Given the description of an element on the screen output the (x, y) to click on. 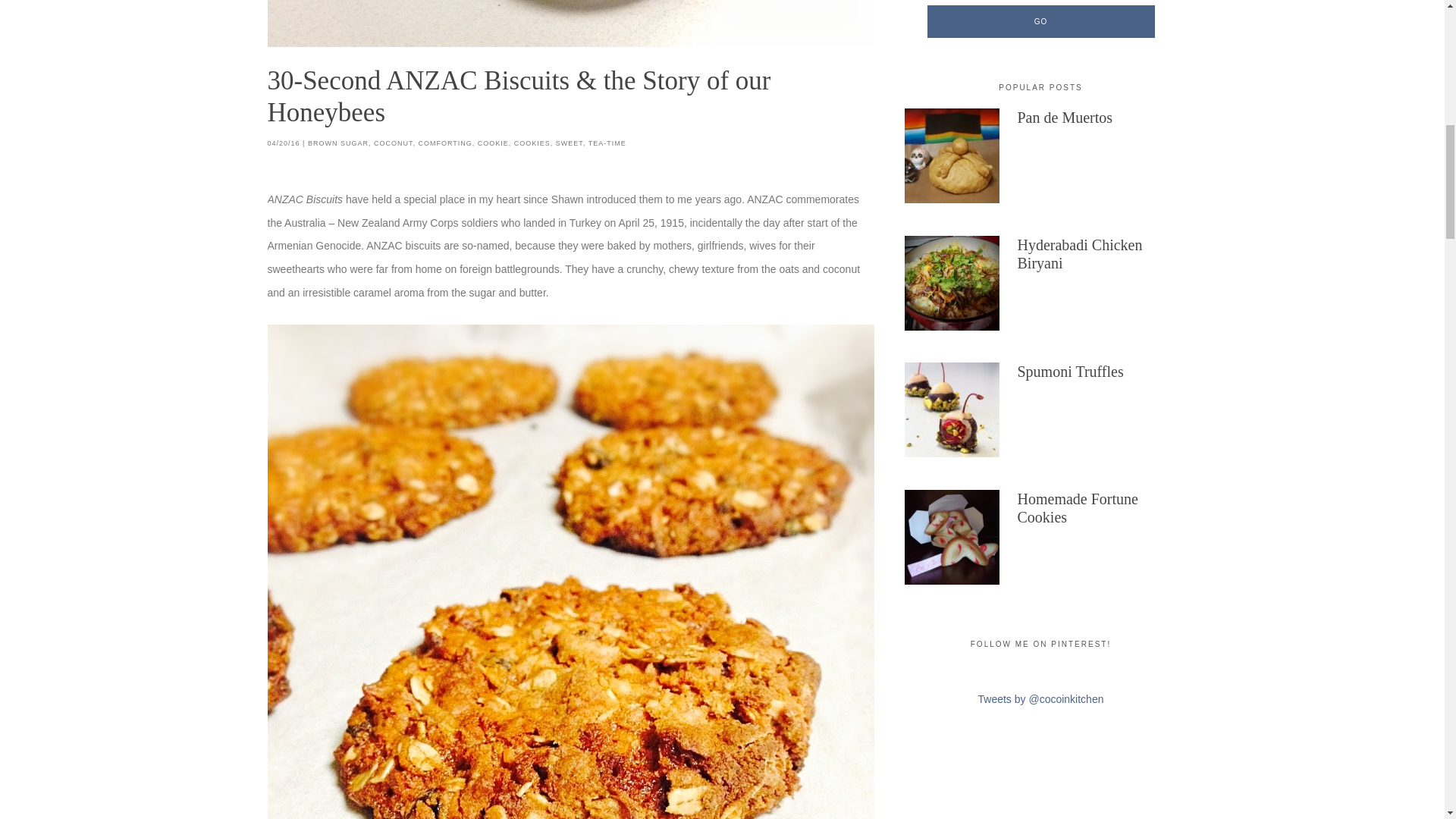
COOKIES (531, 143)
COMFORTING (444, 143)
COCONUT (393, 143)
TEA-TIME (607, 143)
BROWN SUGAR (337, 143)
Go (1040, 20)
SWEET (569, 143)
COOKIE (492, 143)
